Given the description of an element on the screen output the (x, y) to click on. 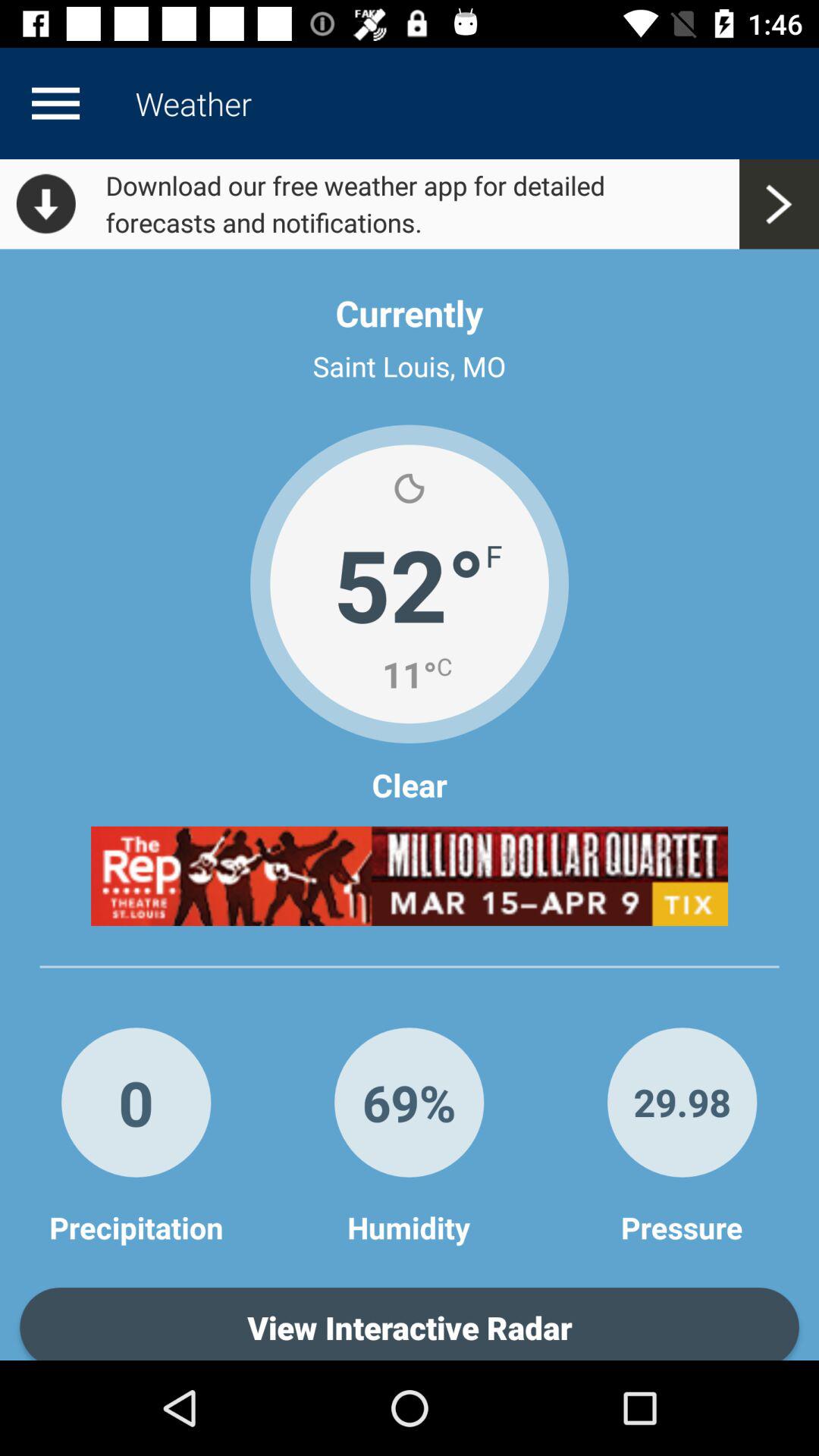
option button (55, 103)
